Given the description of an element on the screen output the (x, y) to click on. 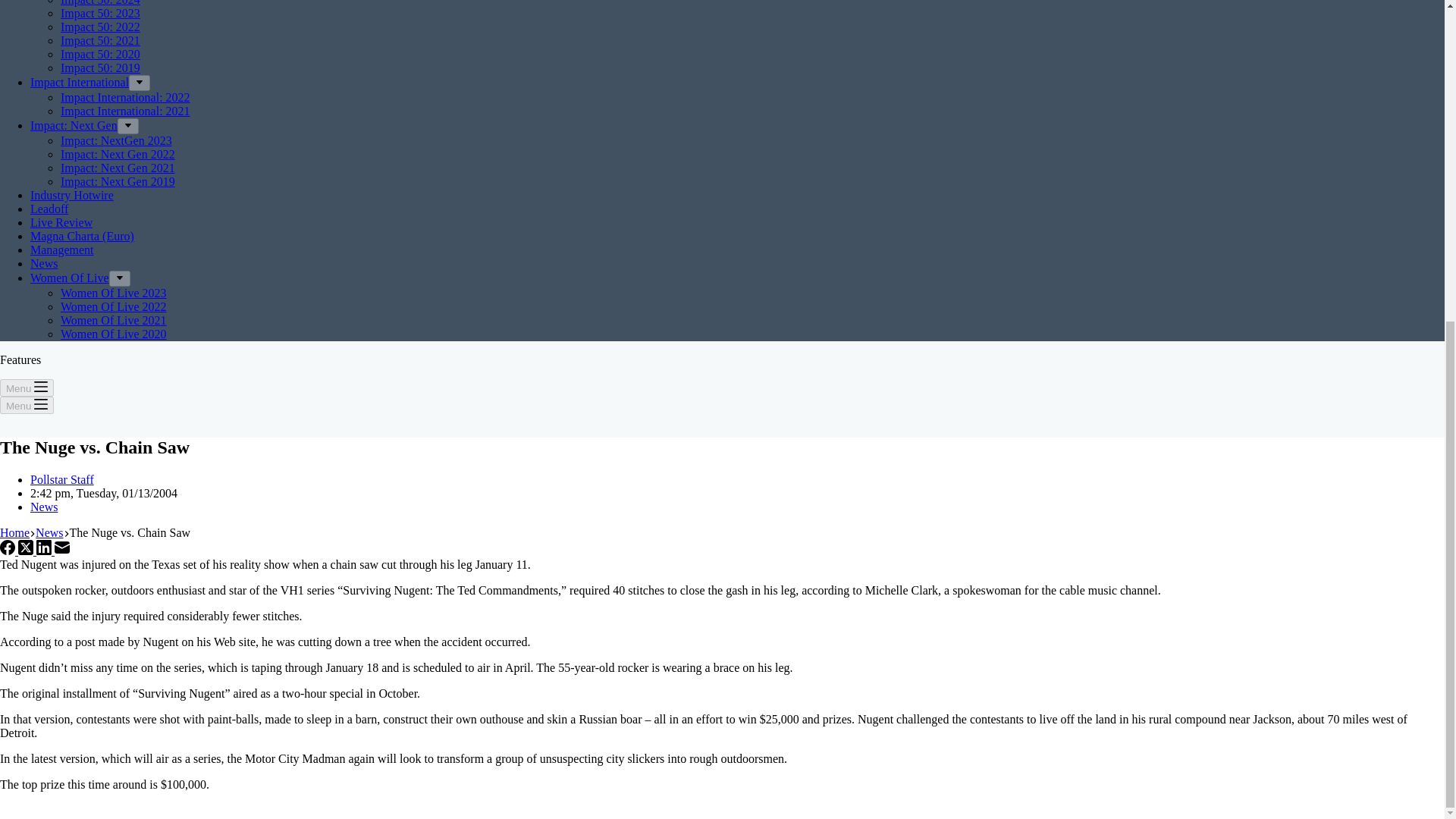
Posts by Pollstar Staff (62, 479)
